Given the description of an element on the screen output the (x, y) to click on. 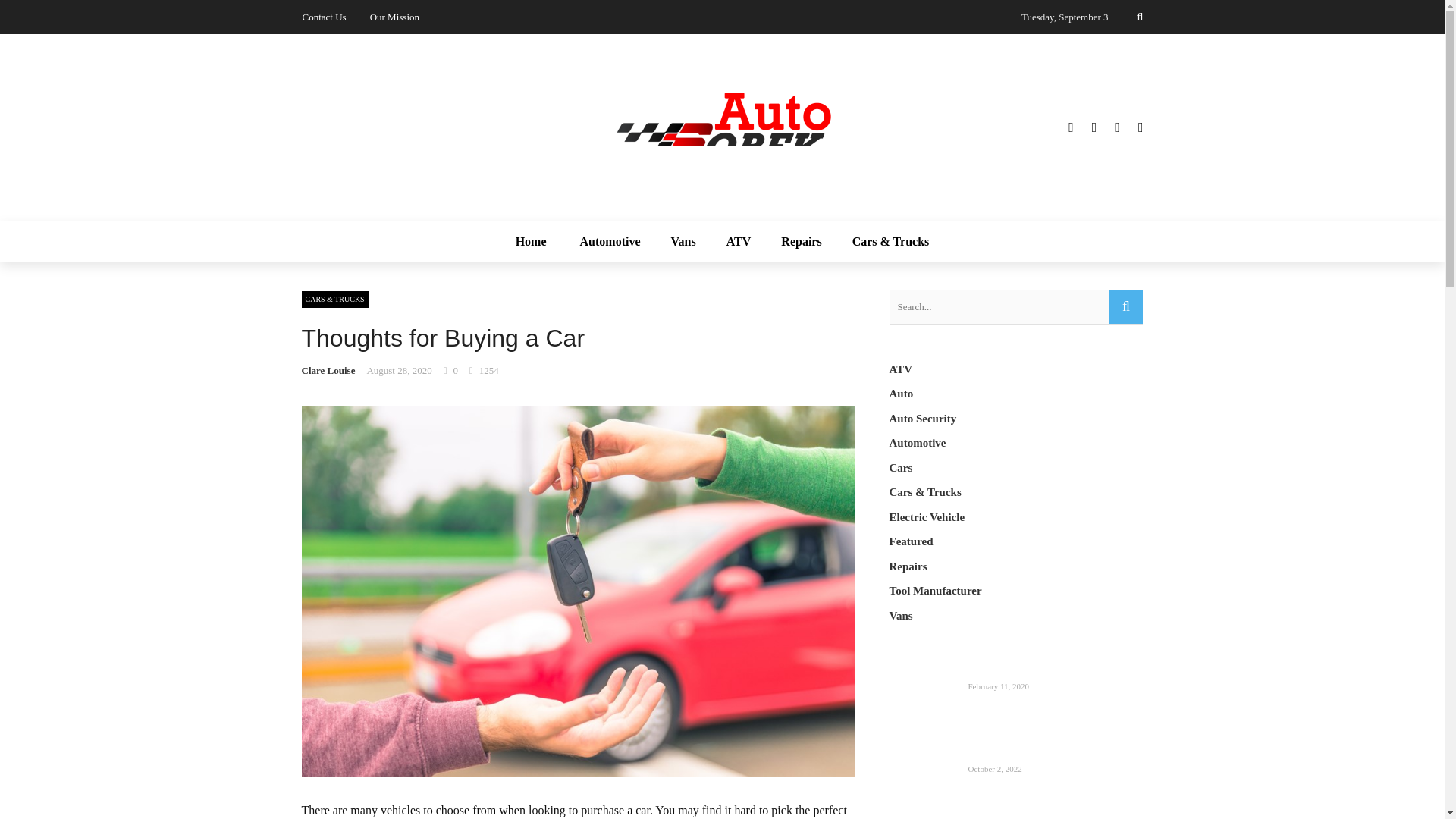
Vans (683, 241)
Home (539, 241)
ATV (739, 241)
Repairs (800, 241)
Automotive (610, 241)
Contact Us (323, 16)
Our Mission (394, 16)
Clare Louise (328, 369)
